Given the description of an element on the screen output the (x, y) to click on. 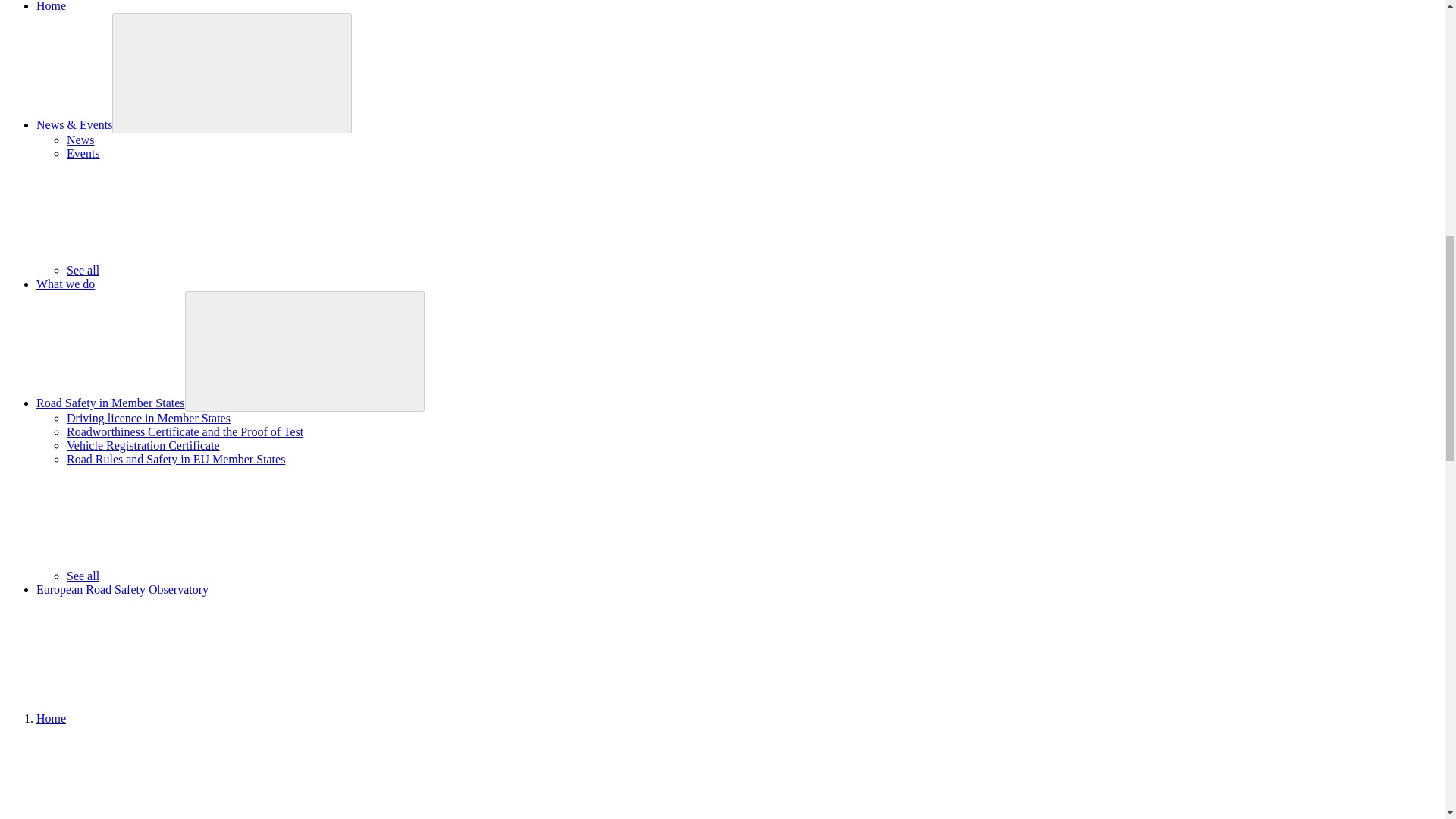
Driving licence in Member States (148, 418)
Roadworthiness Certificate and the Proof of Test (184, 431)
Home (50, 717)
See all (196, 575)
Road Rules and Safety in EU Member States (175, 459)
Home (50, 6)
What we do (65, 283)
Events (83, 153)
See all (196, 269)
Road Safety in Member States (110, 402)
